Given the description of an element on the screen output the (x, y) to click on. 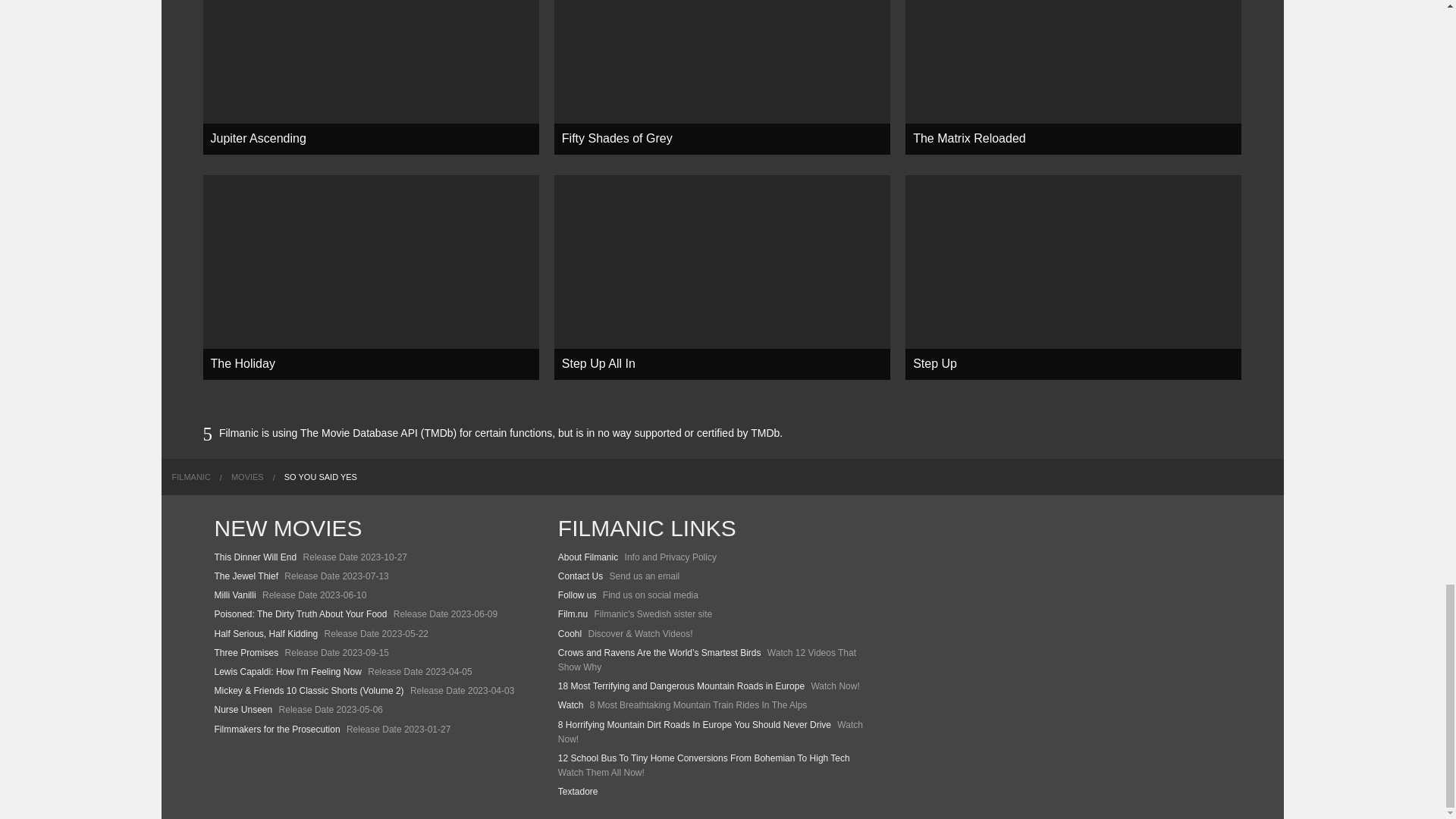
Fifty Shades of Grey (721, 77)
The Holiday (370, 277)
Step Up All In (721, 277)
Jupiter Ascending (370, 77)
